Given the description of an element on the screen output the (x, y) to click on. 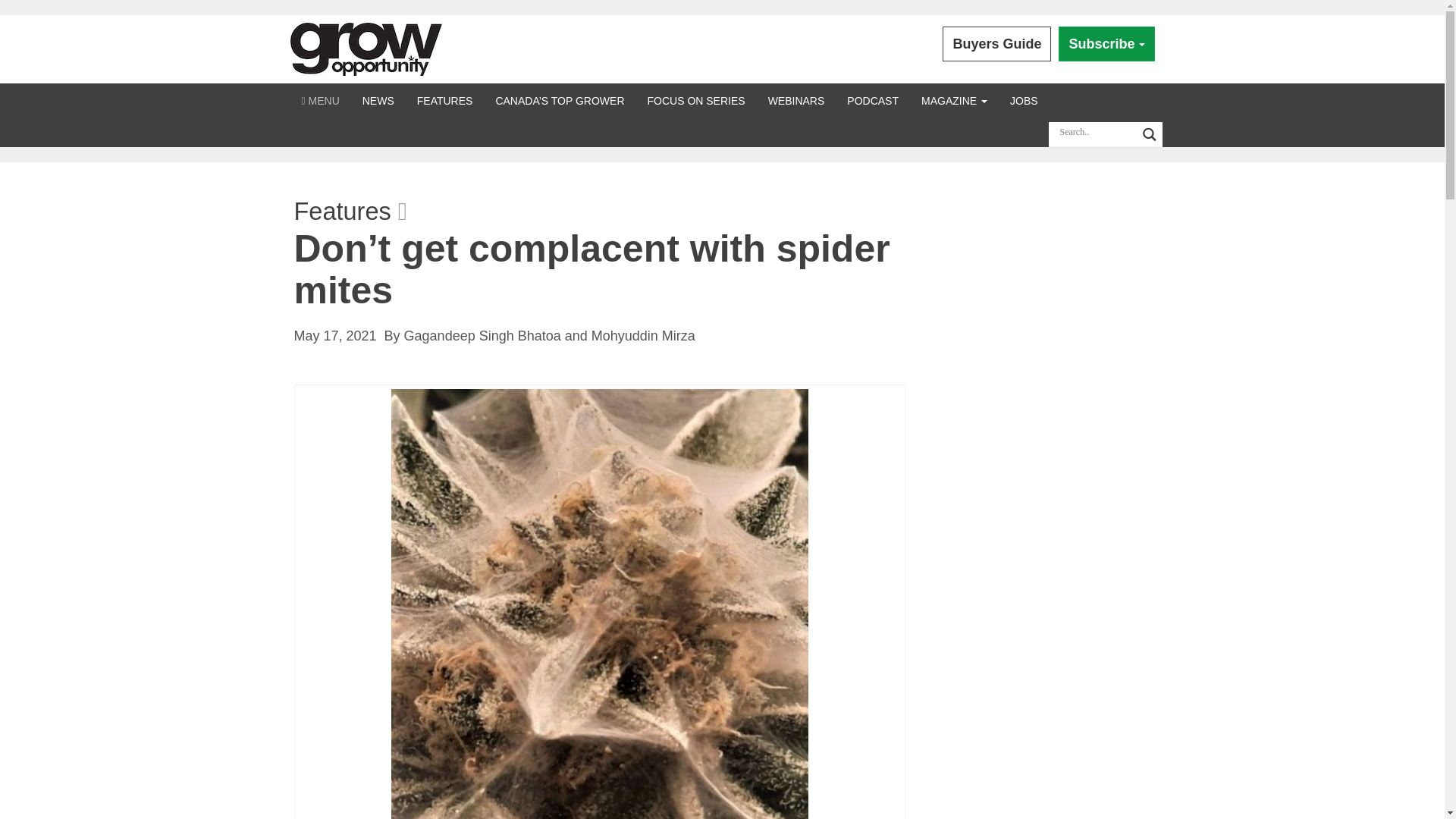
FEATURES (445, 100)
WEBINARS (796, 100)
PODCAST (872, 100)
JOBS (1023, 100)
Buyers Guide (996, 43)
Subscribe (1106, 43)
Grow Opportunity (365, 48)
MENU (319, 100)
MAGAZINE (954, 100)
Buyers Guide (996, 43)
